Given the description of an element on the screen output the (x, y) to click on. 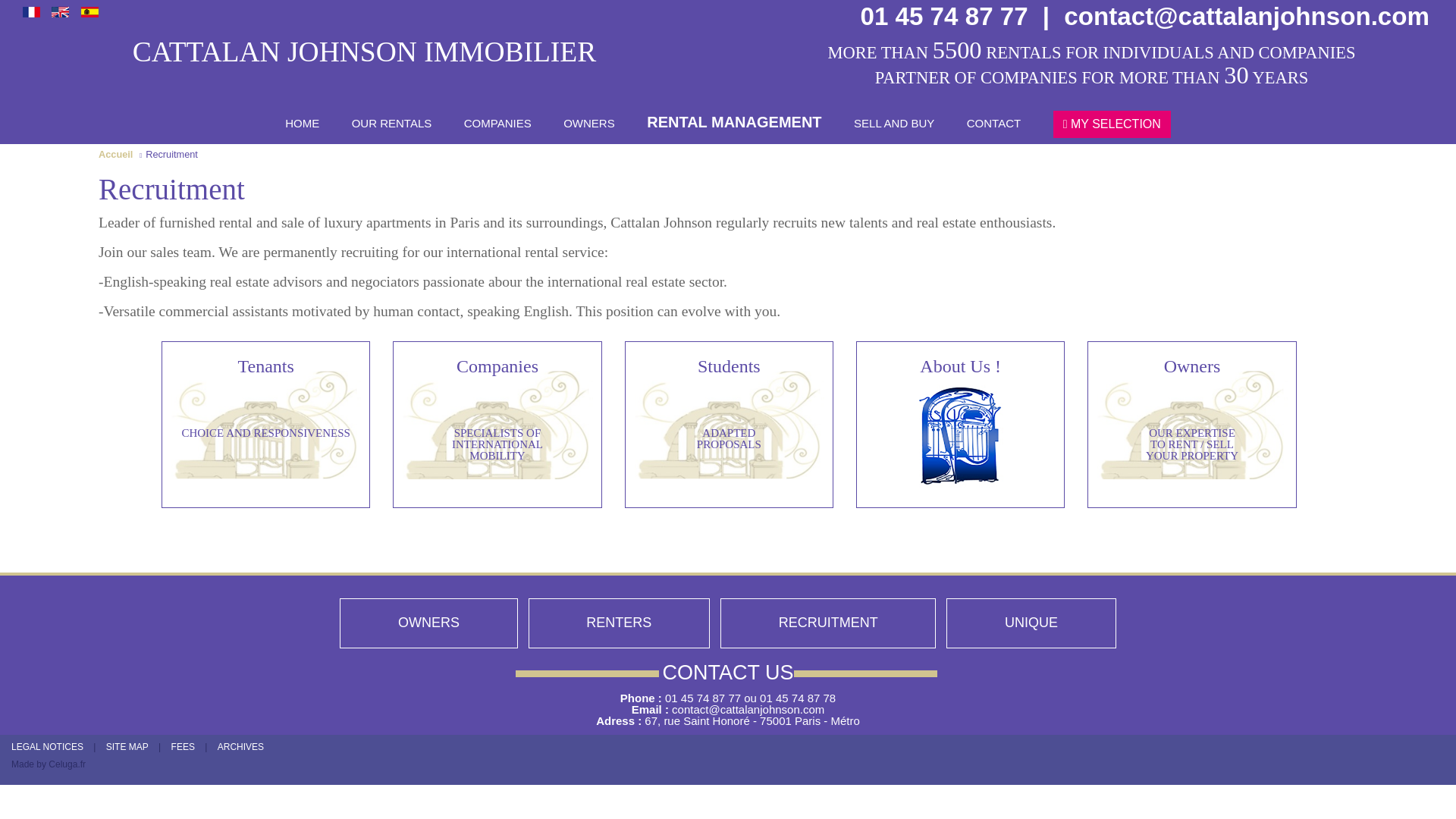
FEES (183, 747)
Accueil (115, 153)
CONTACT (993, 123)
MY SELECTION (1111, 124)
OUR RENTALS (392, 123)
SELL AND BUY (893, 123)
OWNERS (427, 622)
UNIQUE (1030, 622)
RENTAL MANAGEMENT (733, 121)
CATTALAN JOHNSON IMMOBILIER (497, 424)
SITE MAP (364, 51)
OWNERS (127, 747)
RENTERS (588, 123)
ARCHIVES (619, 622)
